Given the description of an element on the screen output the (x, y) to click on. 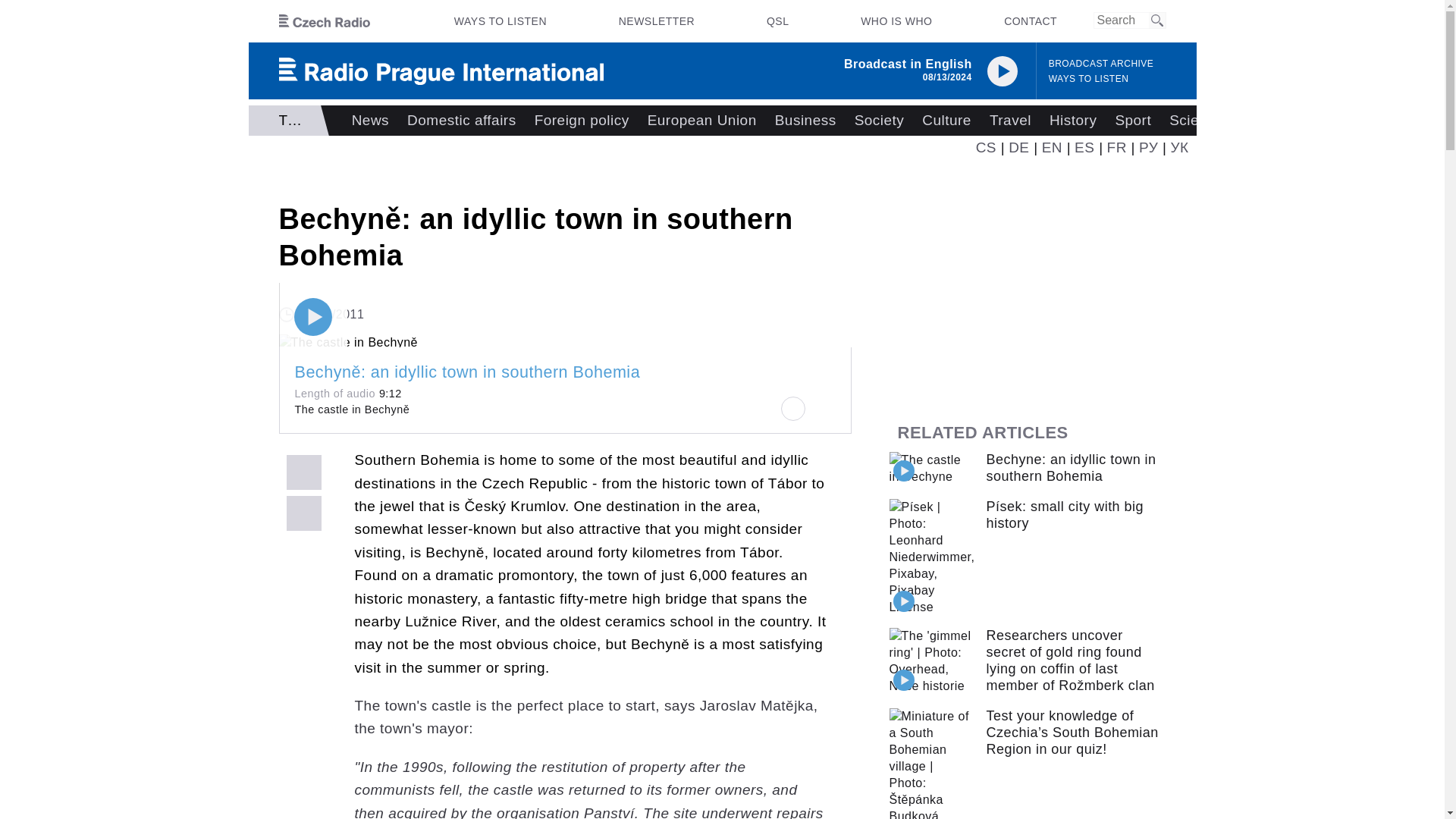
CS (985, 147)
Society (879, 120)
CONTACT (1029, 21)
Business (805, 120)
WAYS TO LISTEN (500, 21)
History (1073, 120)
WHO IS WHO (896, 21)
Sport (1132, 120)
Travel (1010, 120)
Broadcast in English  (908, 63)
